Given the description of an element on the screen output the (x, y) to click on. 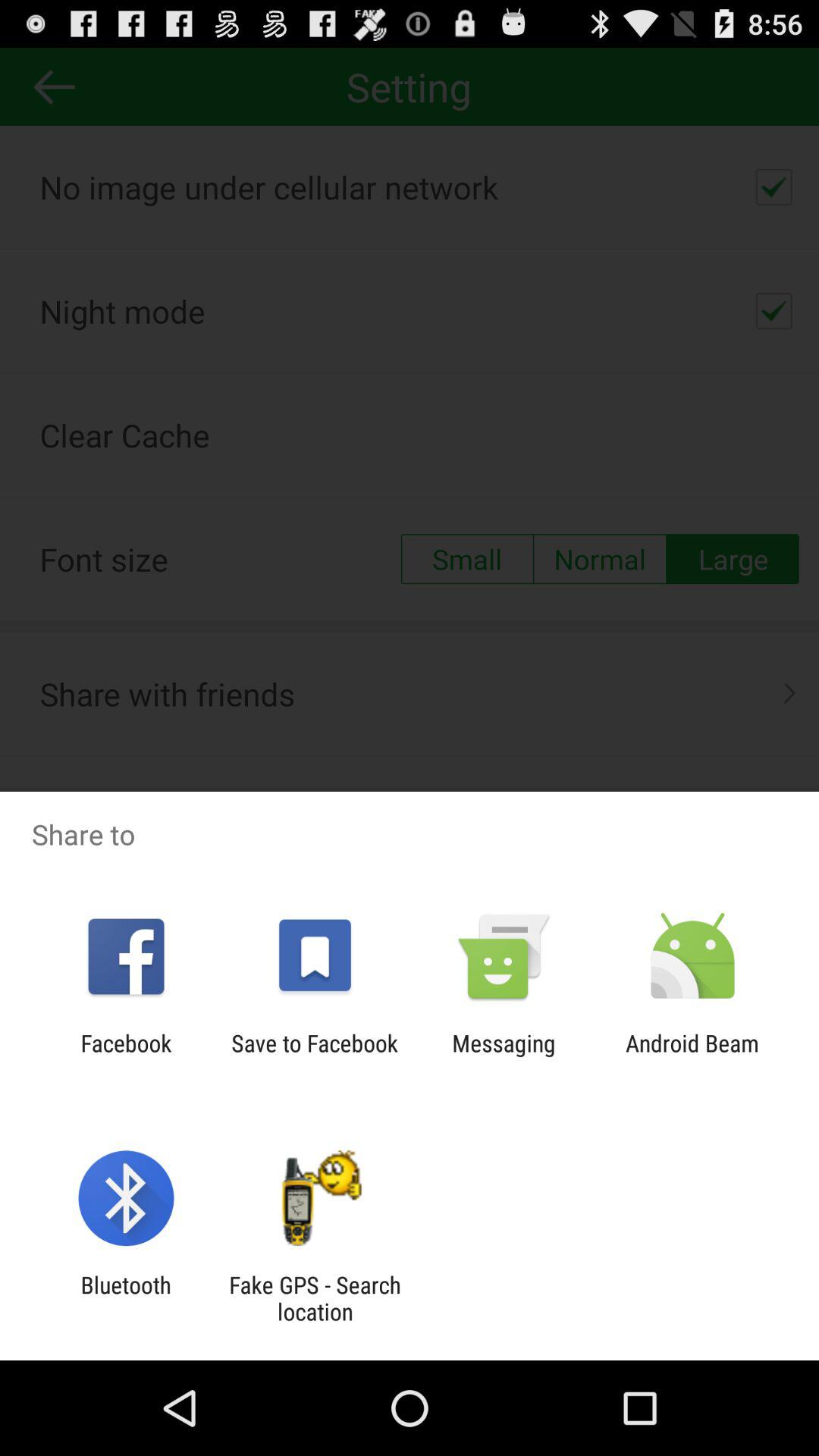
select app next to fake gps search app (125, 1298)
